Given the description of an element on the screen output the (x, y) to click on. 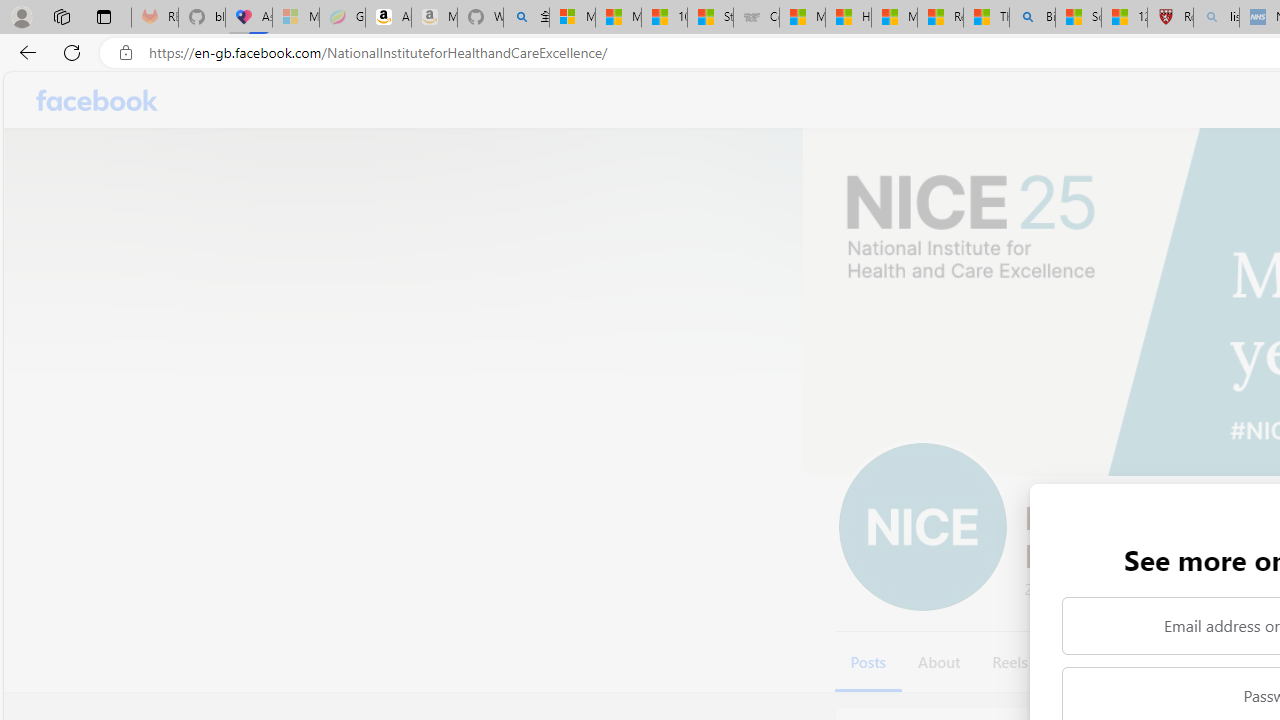
Facebook (97, 99)
